Given the description of an element on the screen output the (x, y) to click on. 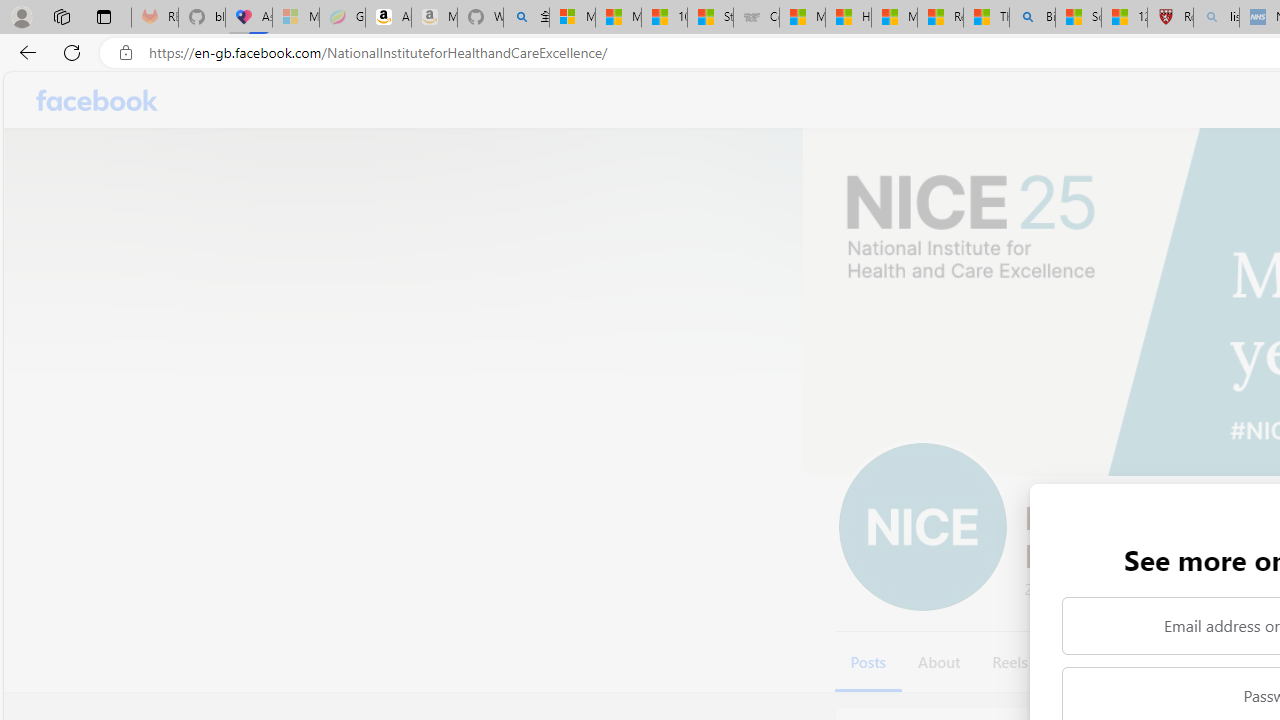
Facebook (97, 99)
